Given the description of an element on the screen output the (x, y) to click on. 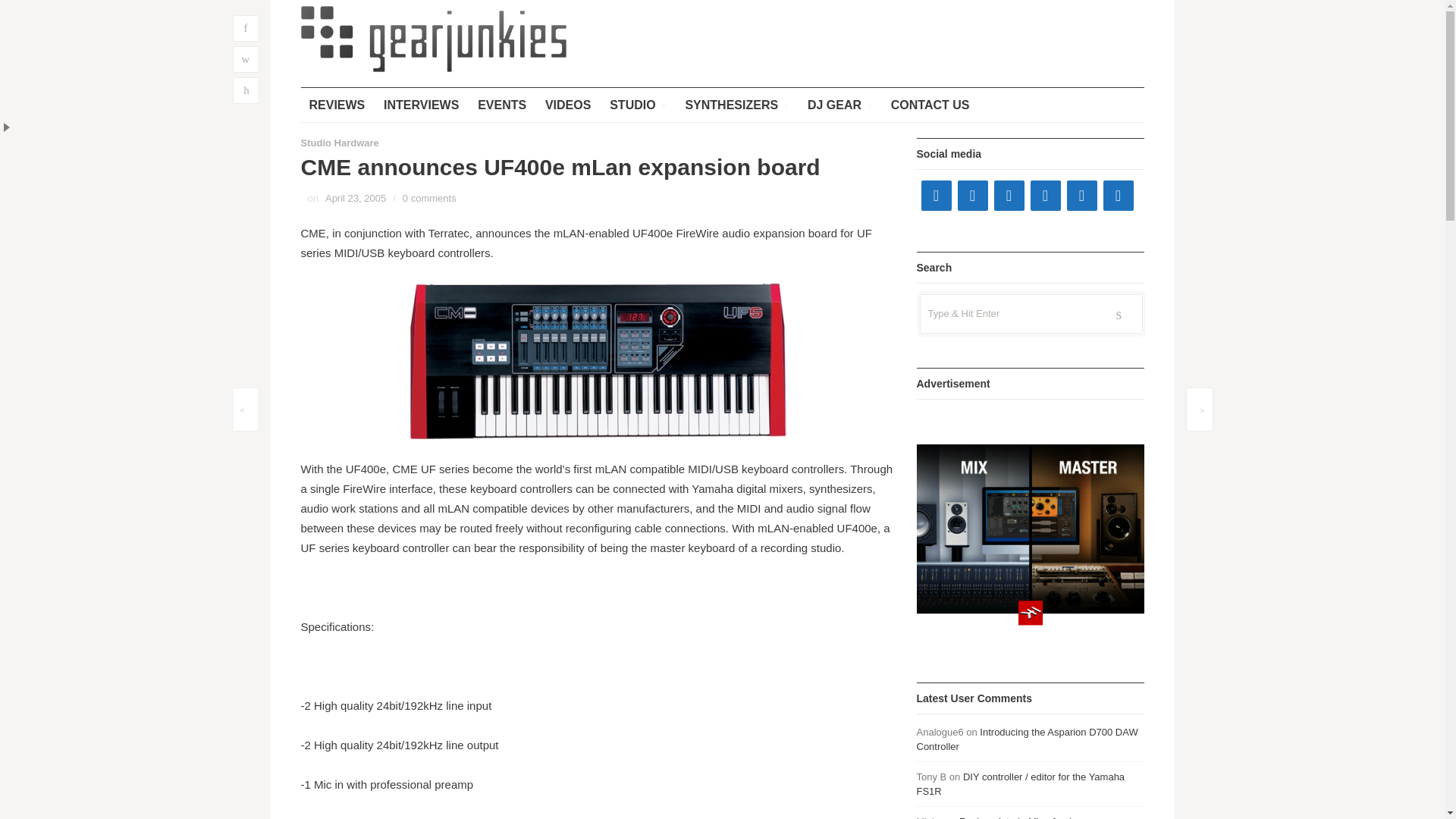
INTERVIEWS (421, 104)
EVENTS (501, 104)
STUDIO (637, 104)
f (245, 28)
April 23, 2005 (354, 197)
Permalink to CME announces UF400e mLan expansion board (354, 197)
SYNTHESIZERS (736, 104)
w (245, 58)
DJ GEAR (839, 104)
REVIEWS (335, 104)
Studio Hardware (338, 142)
CONTACT US (930, 104)
VIDEOS (567, 104)
0 comments (430, 197)
